Given the description of an element on the screen output the (x, y) to click on. 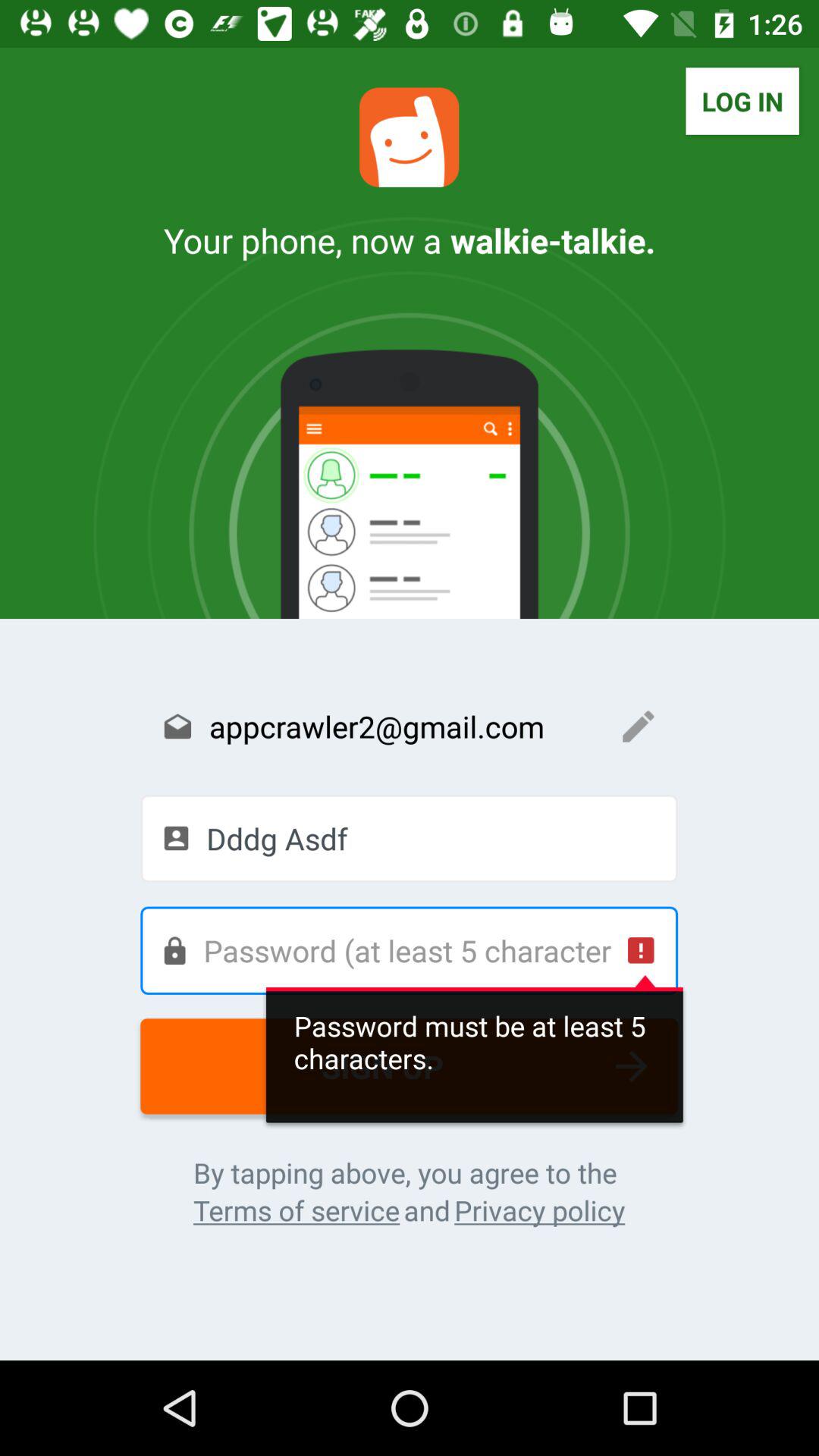
open icon next to and item (296, 1210)
